Given the description of an element on the screen output the (x, y) to click on. 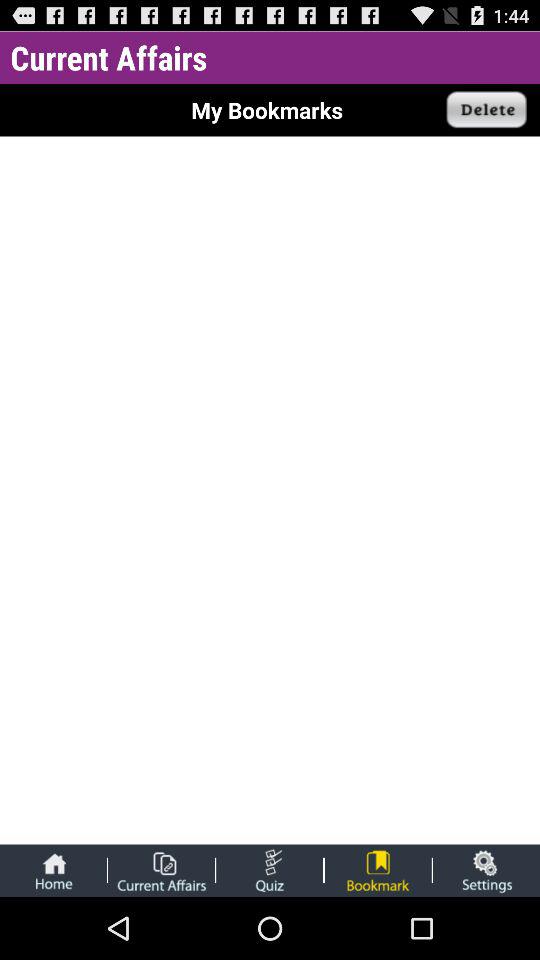
show current affairs (161, 870)
